Given the description of an element on the screen output the (x, y) to click on. 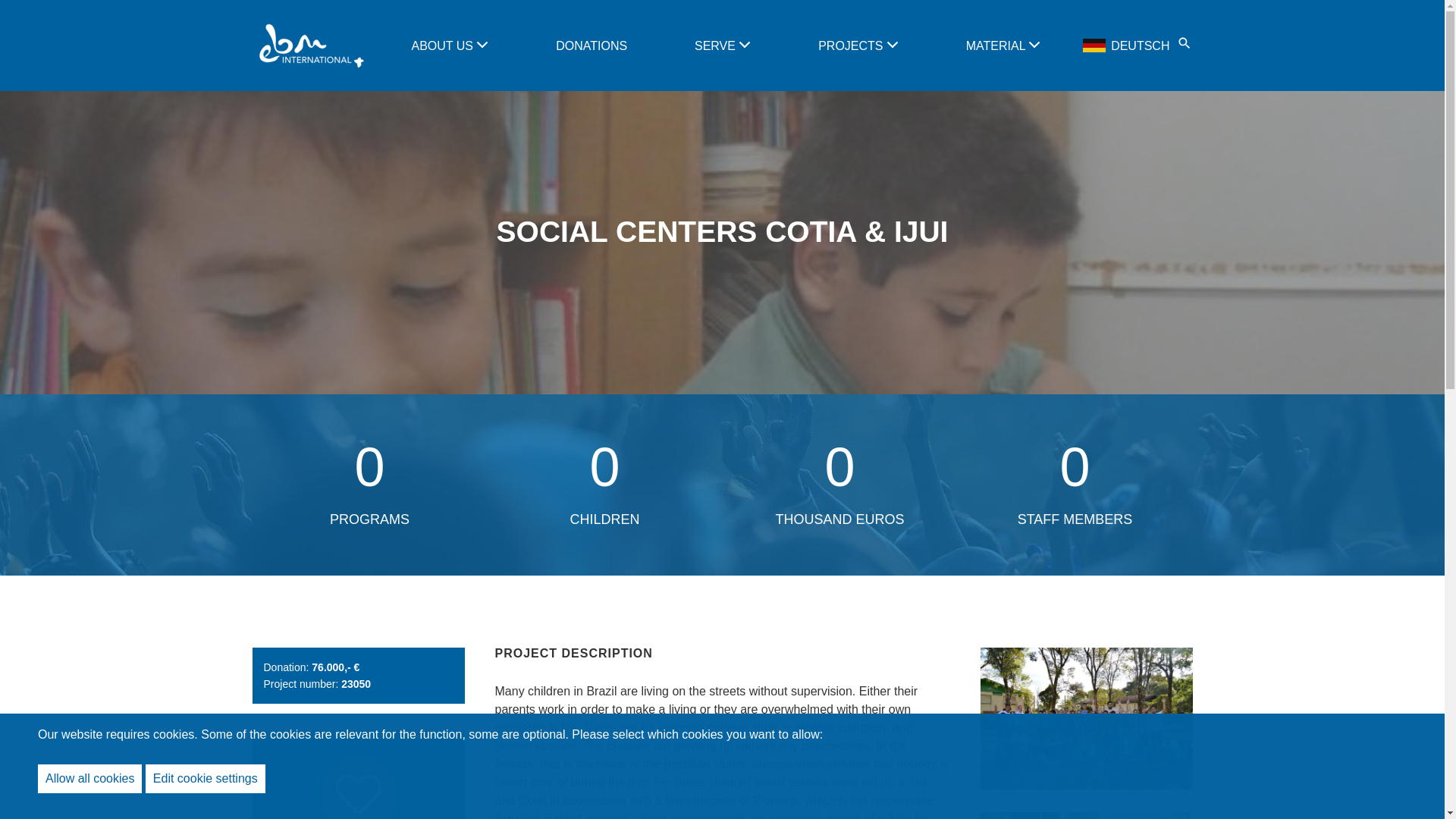
DONATE NOW (357, 774)
PROJECTS (852, 45)
MATERIAL (997, 45)
Logo ebm international (309, 45)
DEUTSCH (1126, 45)
ABOUT US (443, 45)
DONATIONS (591, 45)
SERVE (716, 45)
